Given the description of an element on the screen output the (x, y) to click on. 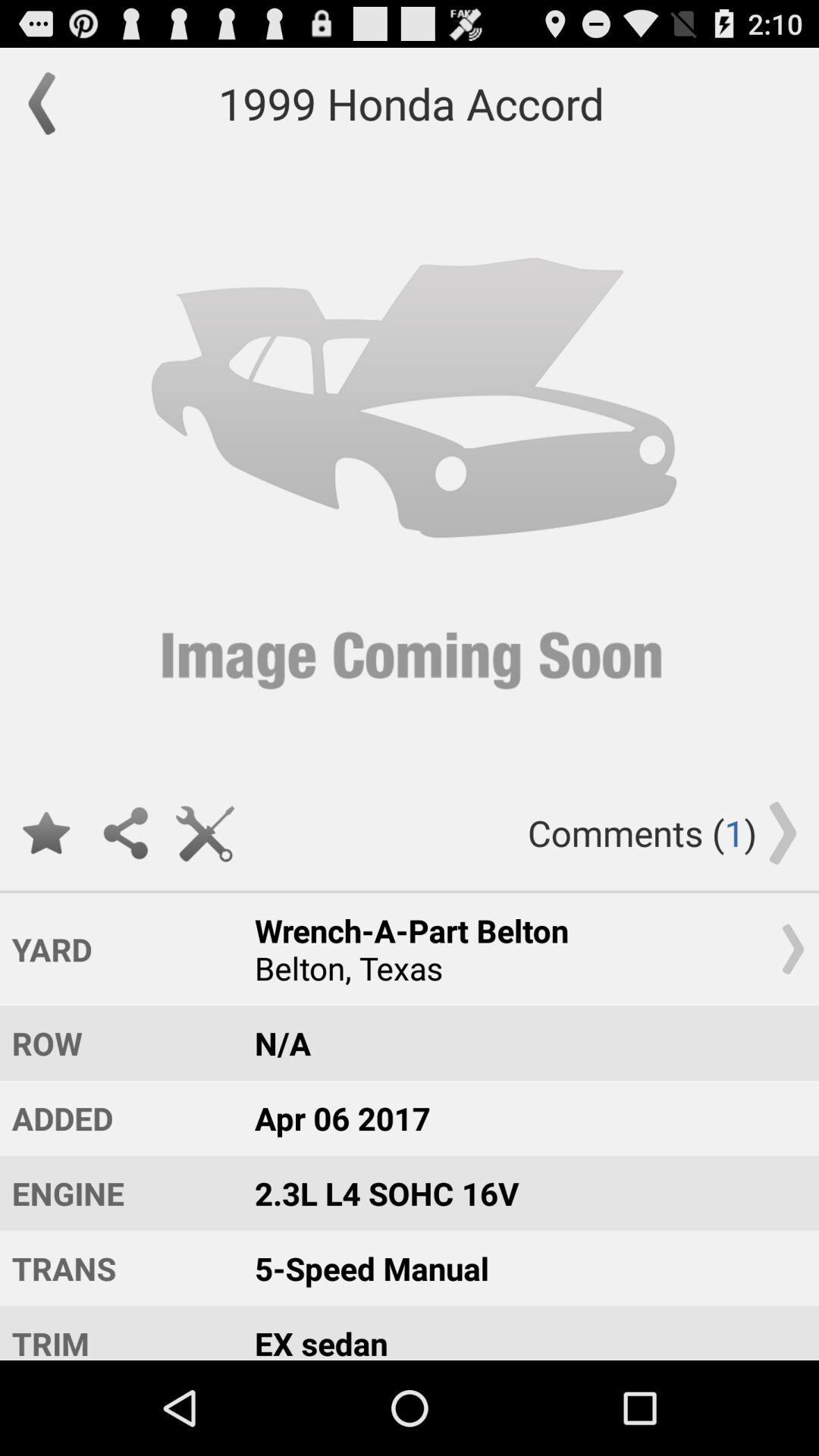
select the item next to the yard app (522, 948)
